Given the description of an element on the screen output the (x, y) to click on. 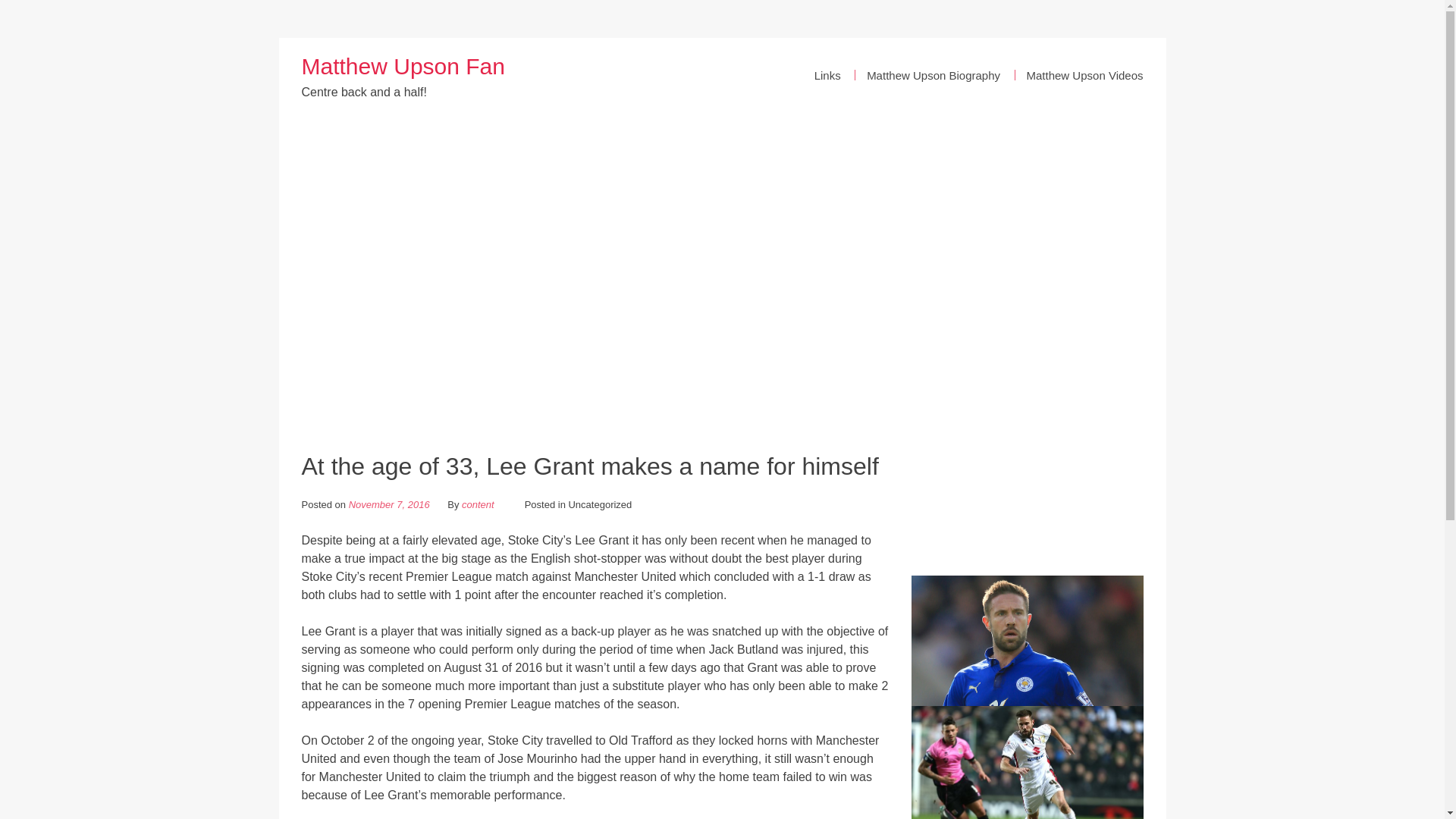
Matthew Upson Fan (403, 66)
November 7, 2016 (389, 504)
content (478, 504)
Matthew Upson Videos (1080, 75)
Matthew Upson Biography (933, 75)
